Given the description of an element on the screen output the (x, y) to click on. 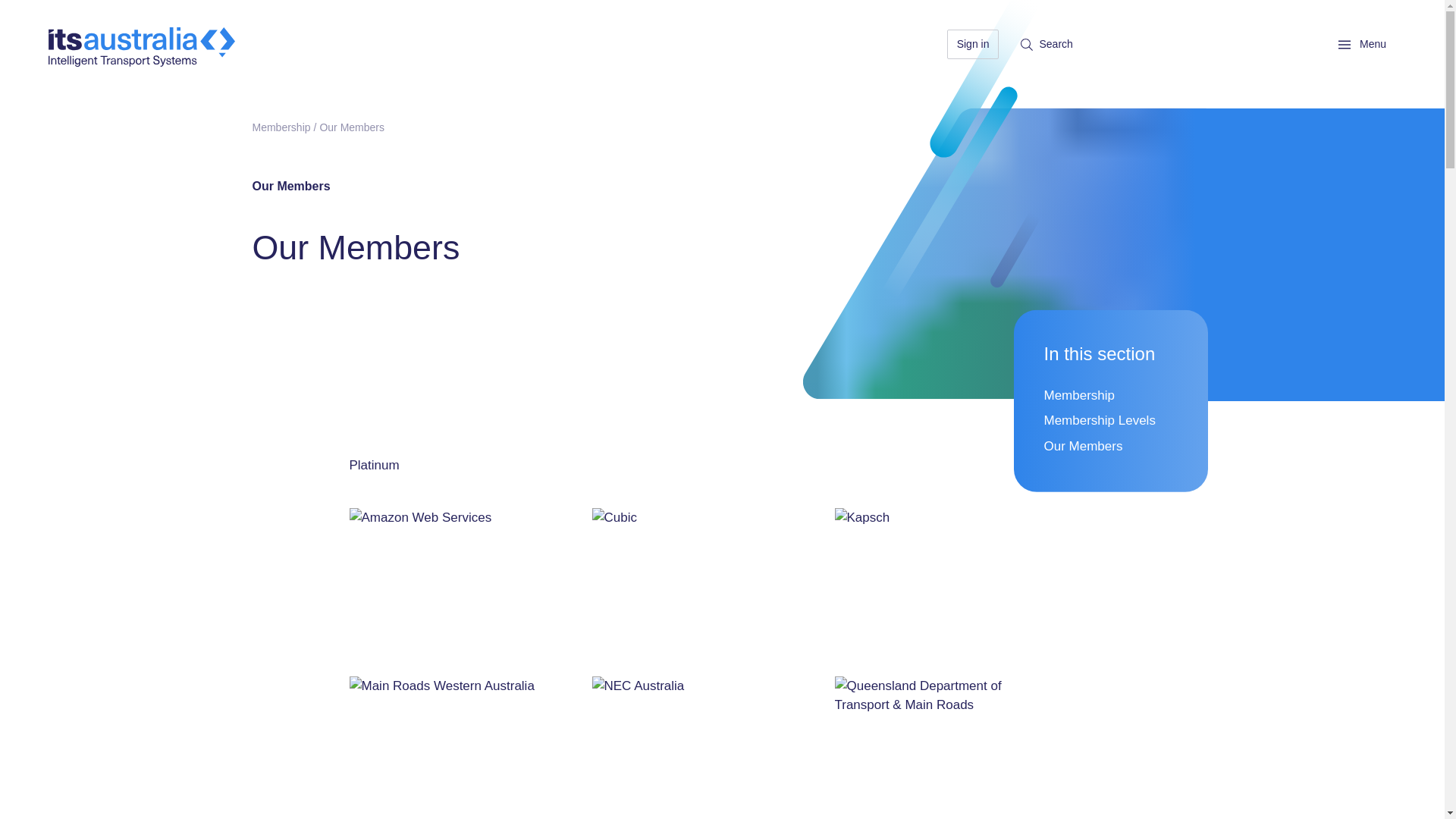
NEC Australia (703, 747)
Our Members (1082, 446)
Amazon Web Services (461, 582)
Membership (280, 127)
Kapsch (946, 582)
Search (1045, 43)
Menu (1344, 44)
Sign in (979, 43)
Membership Levels (1098, 421)
Sign in (972, 43)
Main Roads Western Australia (461, 747)
Menu Menu (1361, 43)
Membership (1079, 396)
Cubic (703, 582)
